Given the description of an element on the screen output the (x, y) to click on. 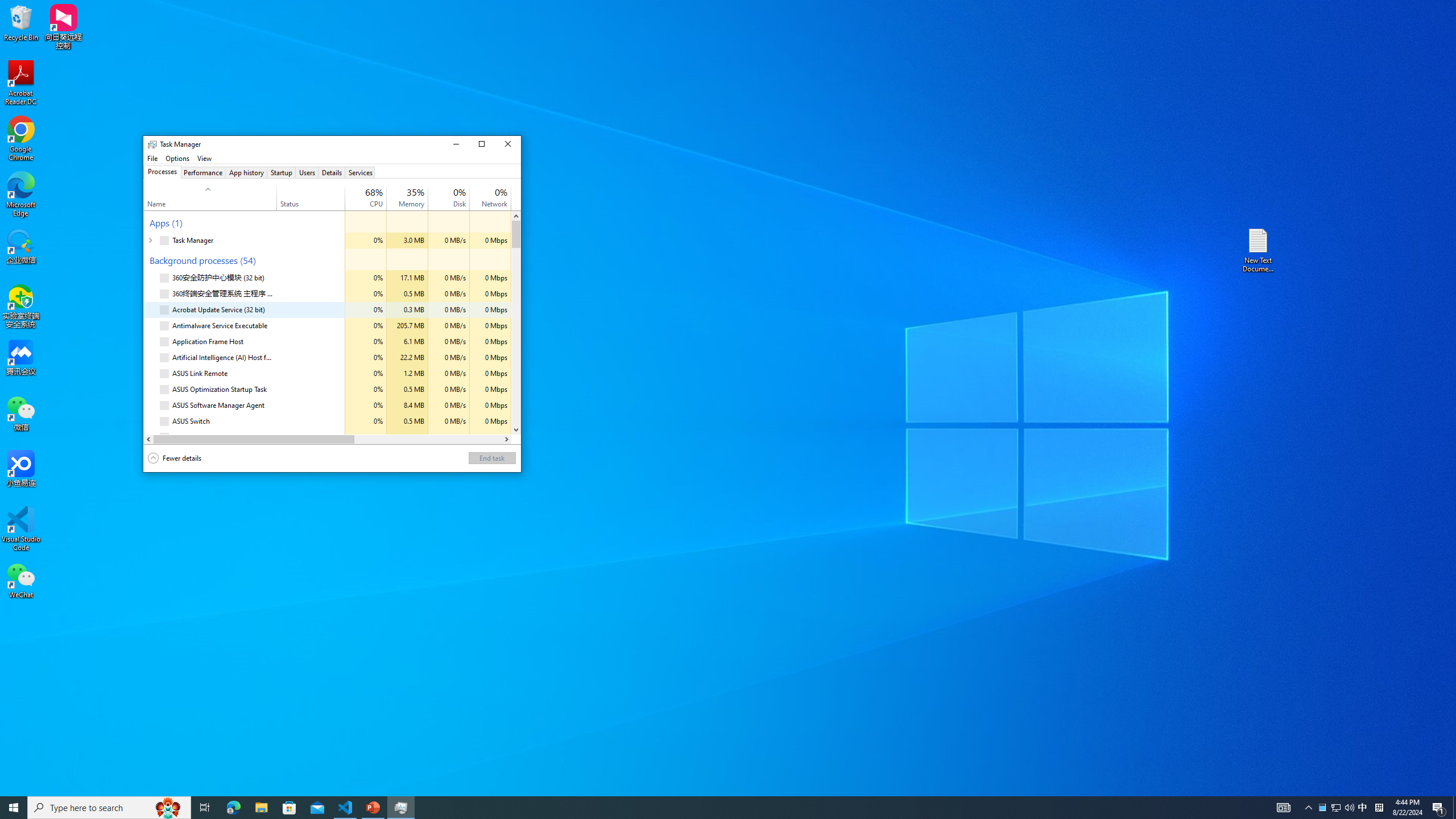
AutomationID: TmColStatusText (278, 437)
19% (374, 191)
Disk (449, 437)
